Given the description of an element on the screen output the (x, y) to click on. 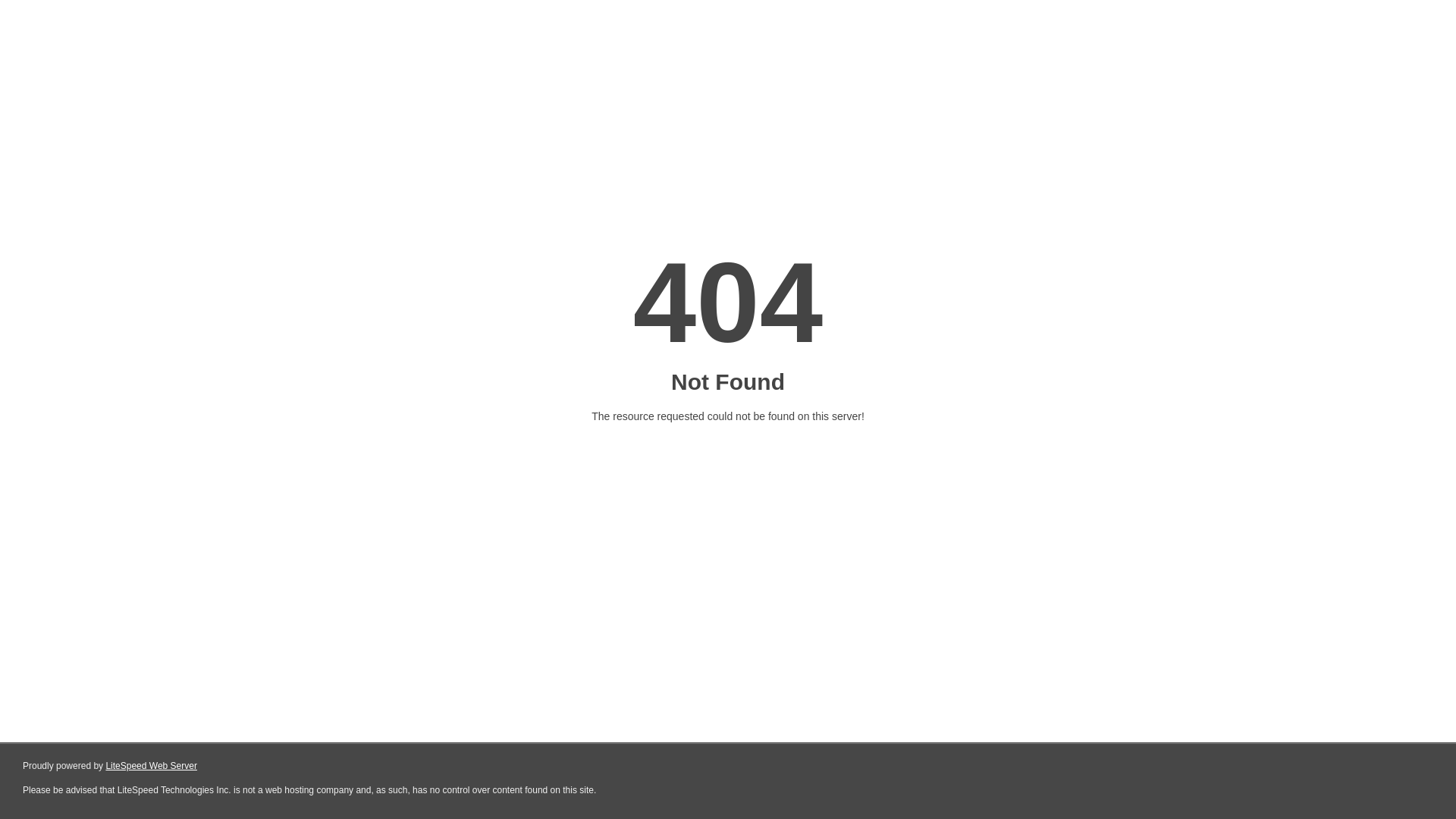
LiteSpeed Web Server Element type: text (151, 765)
